Given the description of an element on the screen output the (x, y) to click on. 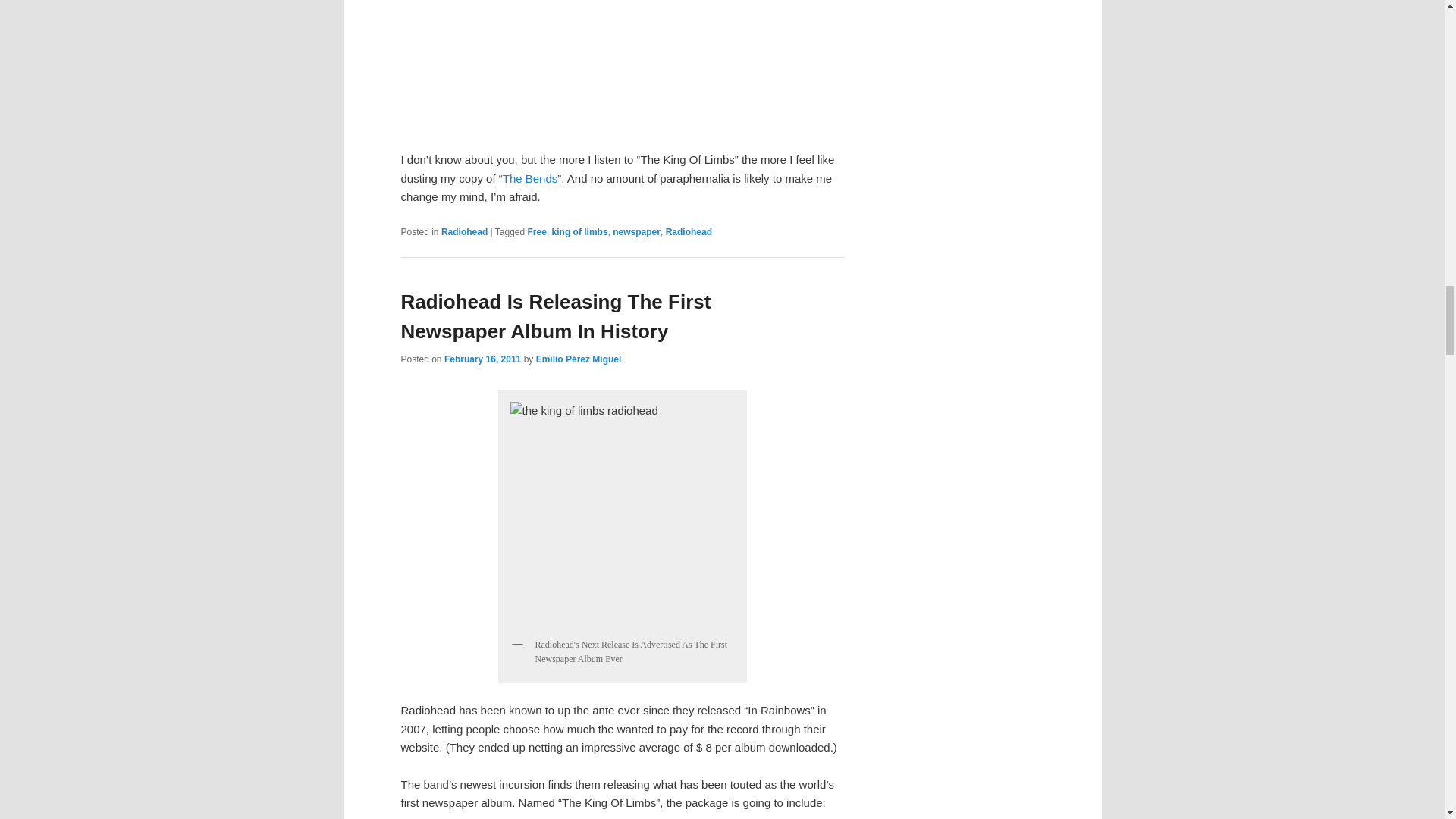
The Bends (529, 178)
the king of limbs radiohead (622, 512)
11:37 am (482, 358)
